Given the description of an element on the screen output the (x, y) to click on. 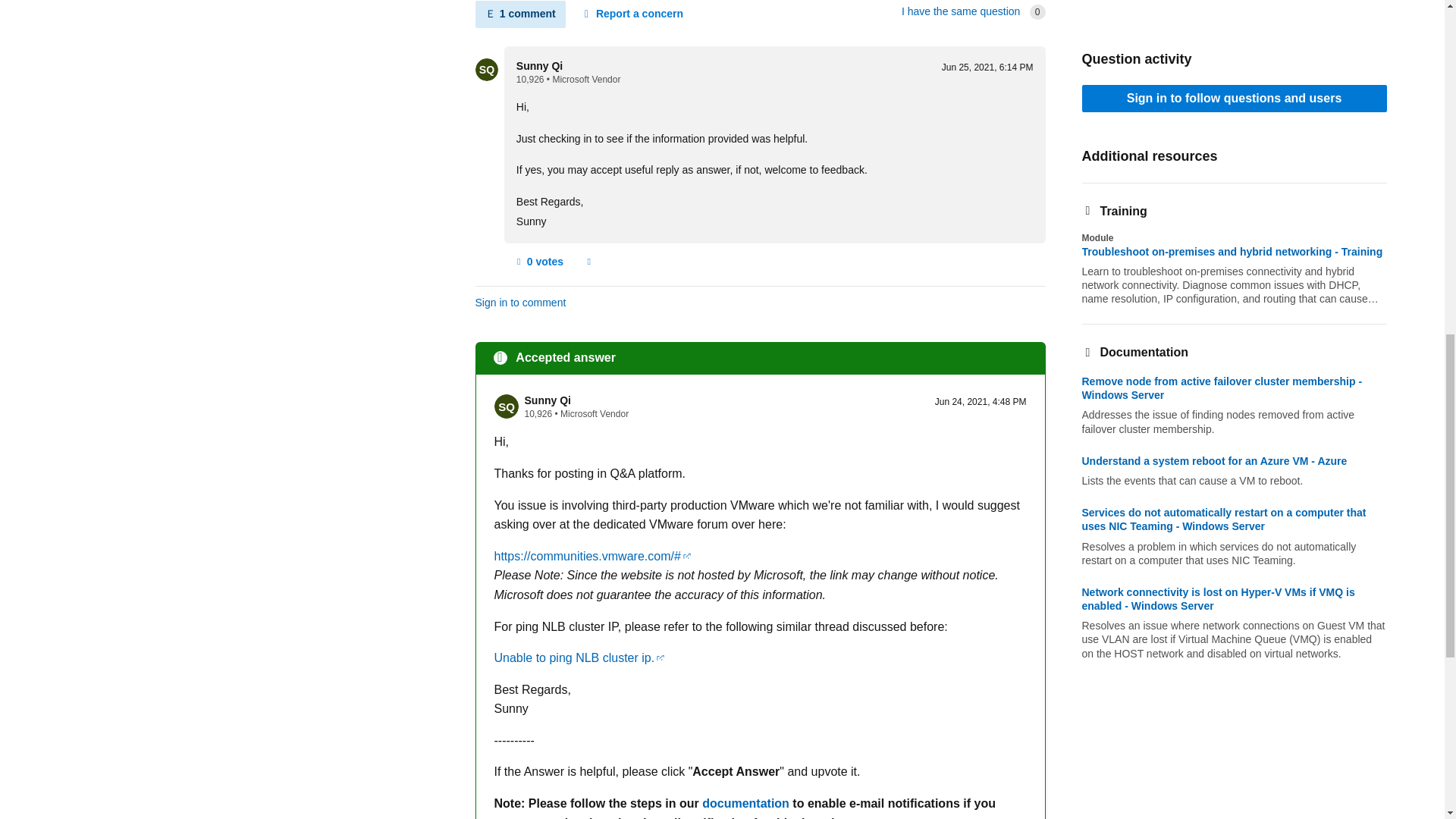
Reputation points (538, 413)
This comment is helpful (538, 261)
Reputation points (530, 79)
You have the same or similar question (960, 10)
Report a concern (632, 13)
Hide comments for this question (519, 13)
Report a concern (588, 261)
